Given the description of an element on the screen output the (x, y) to click on. 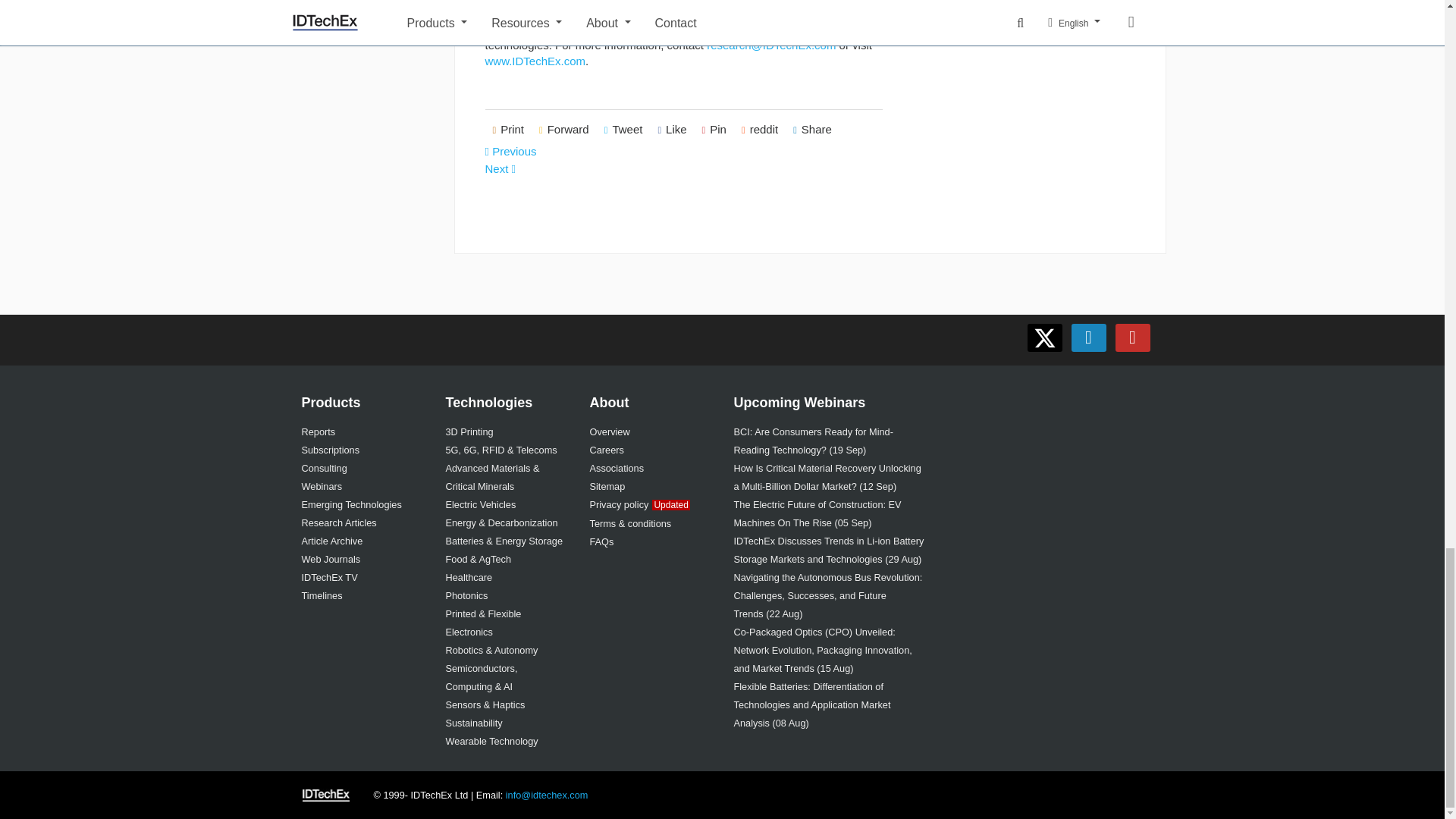
3D Printing (469, 431)
Subscriptions (330, 449)
Webinars (321, 486)
Print Article (508, 129)
Share on Twitter (623, 129)
Reports (318, 431)
Consulting (324, 468)
Emerging Technologies (351, 504)
Share on Facebook (671, 129)
Forward to a Friend (563, 129)
